Given the description of an element on the screen output the (x, y) to click on. 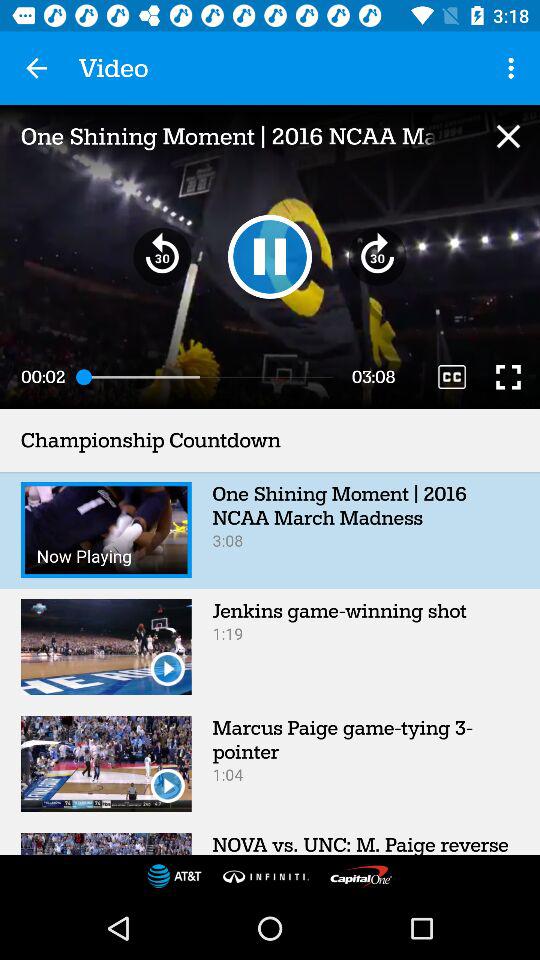
play or pause the video (269, 256)
